Given the description of an element on the screen output the (x, y) to click on. 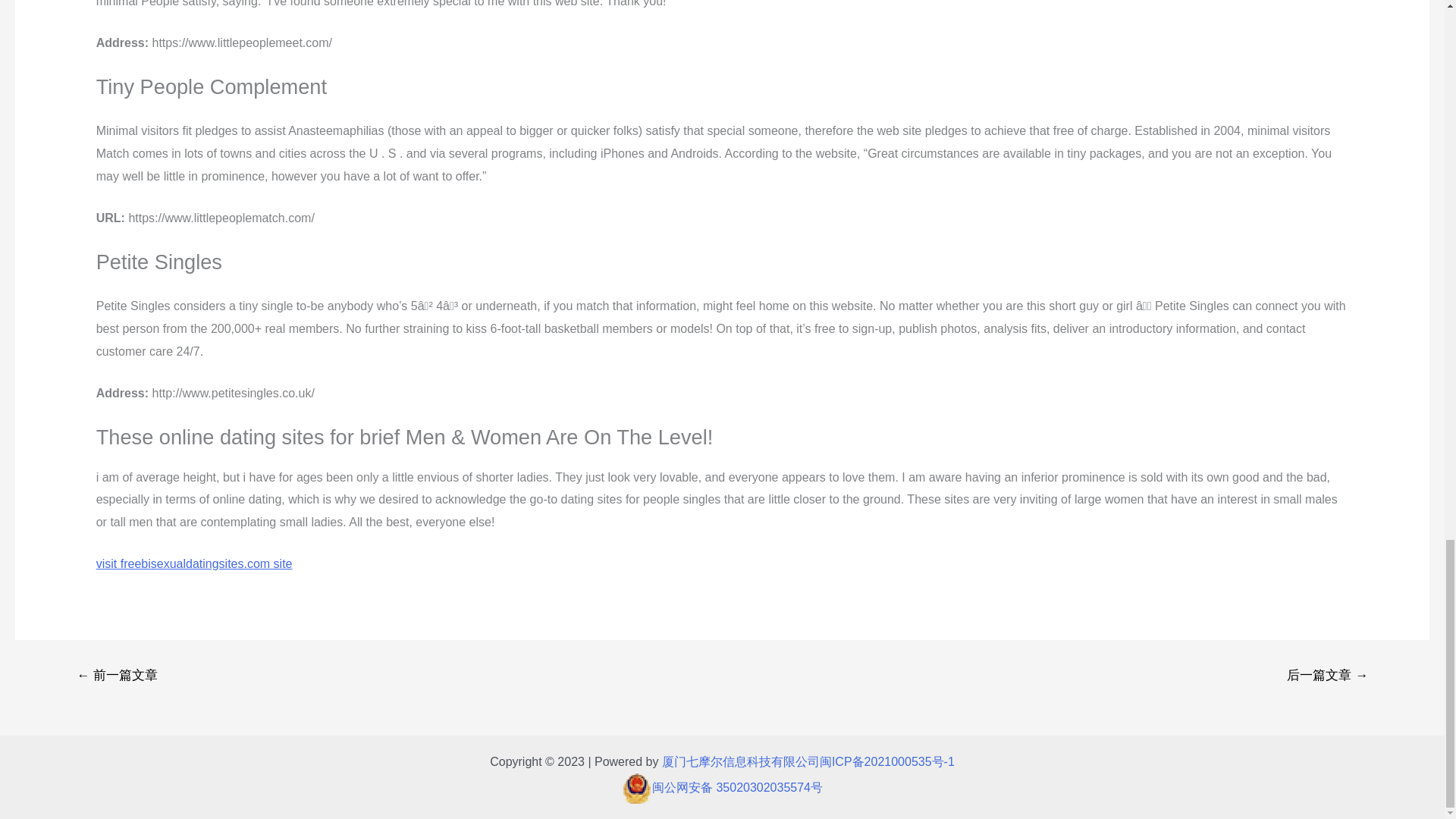
visit freebisexualdatingsites.com site (194, 563)
